Given the description of an element on the screen output the (x, y) to click on. 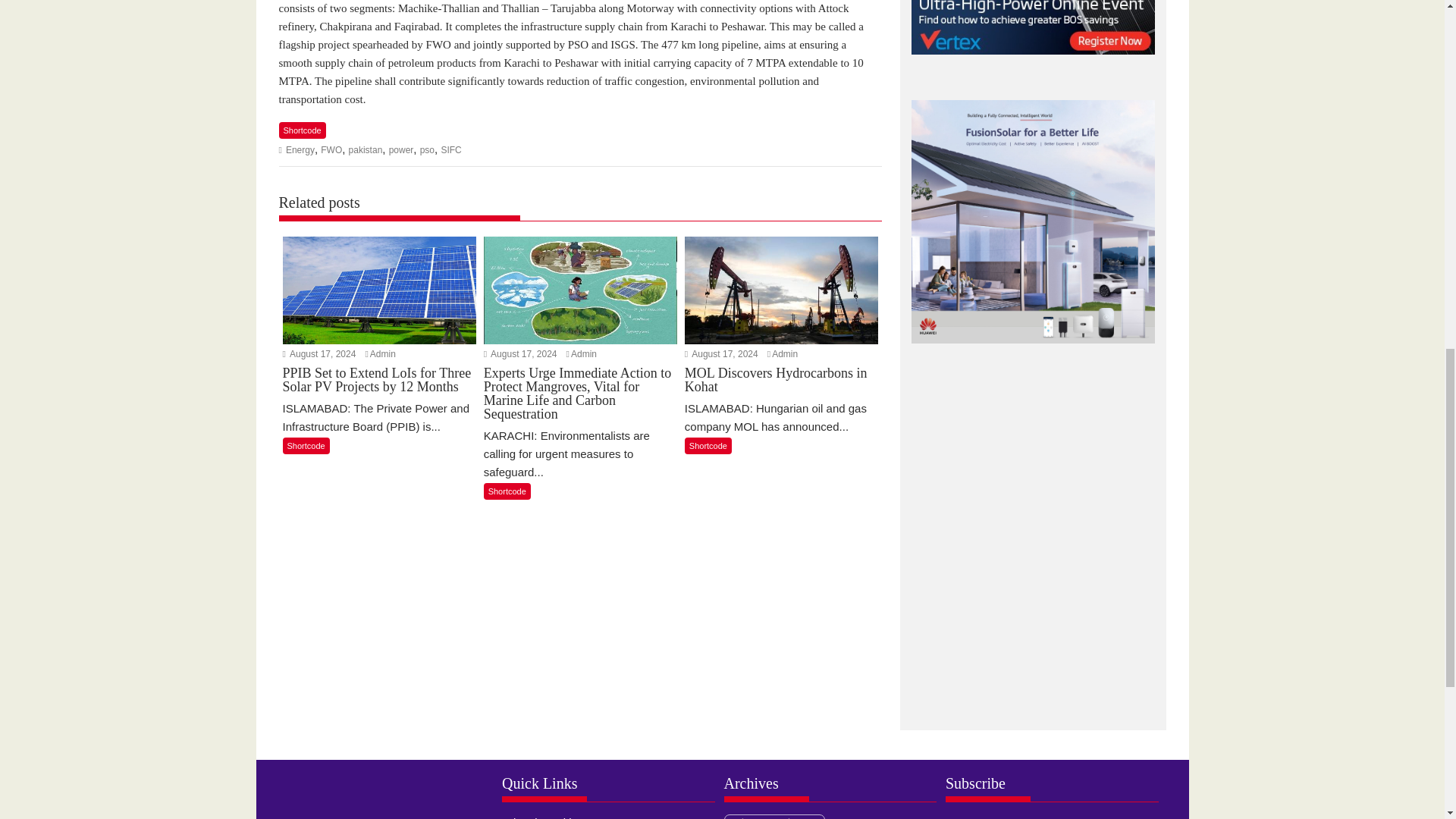
Admin (382, 353)
Admin (583, 353)
Admin (784, 353)
